Given the description of an element on the screen output the (x, y) to click on. 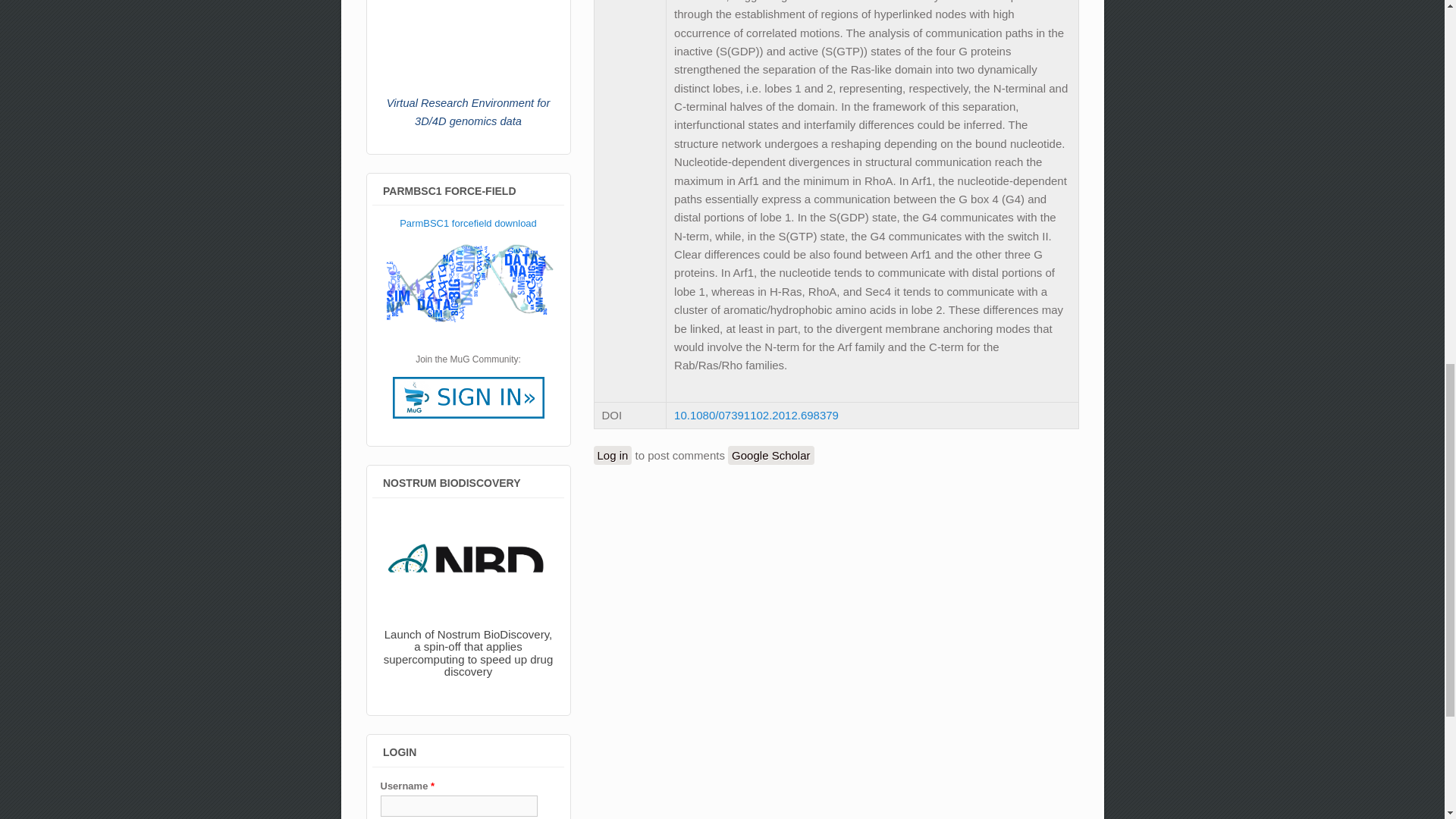
Log in (611, 455)
Google Scholar (770, 455)
Nostrum Biodiscovery (468, 598)
Click to search Google Scholar for this entry (770, 455)
